Given the description of an element on the screen output the (x, y) to click on. 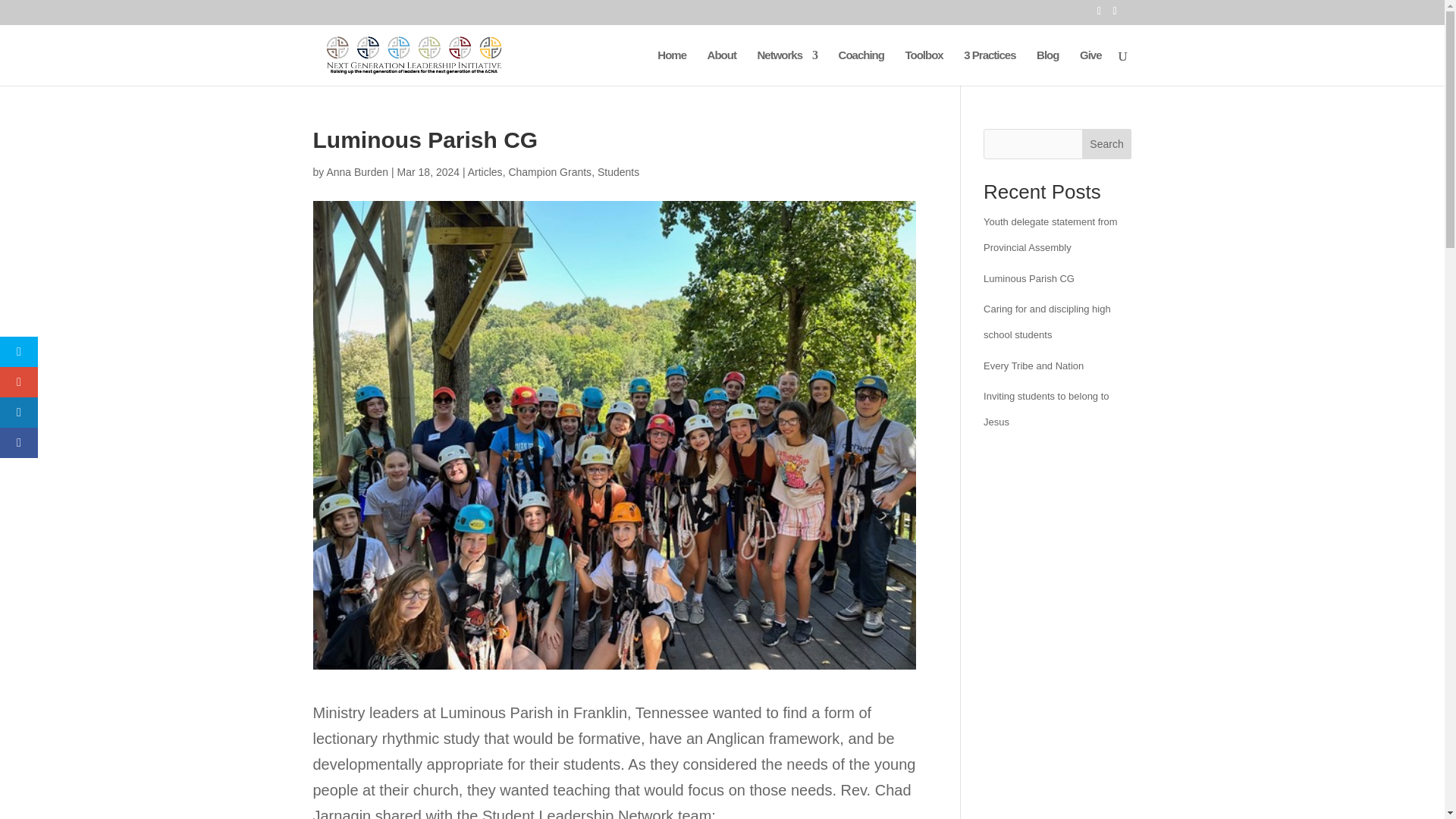
Toolbox (924, 67)
Networks (786, 67)
Posts by Anna Burden (357, 172)
Coaching (860, 67)
3 Practices (988, 67)
